Given the description of an element on the screen output the (x, y) to click on. 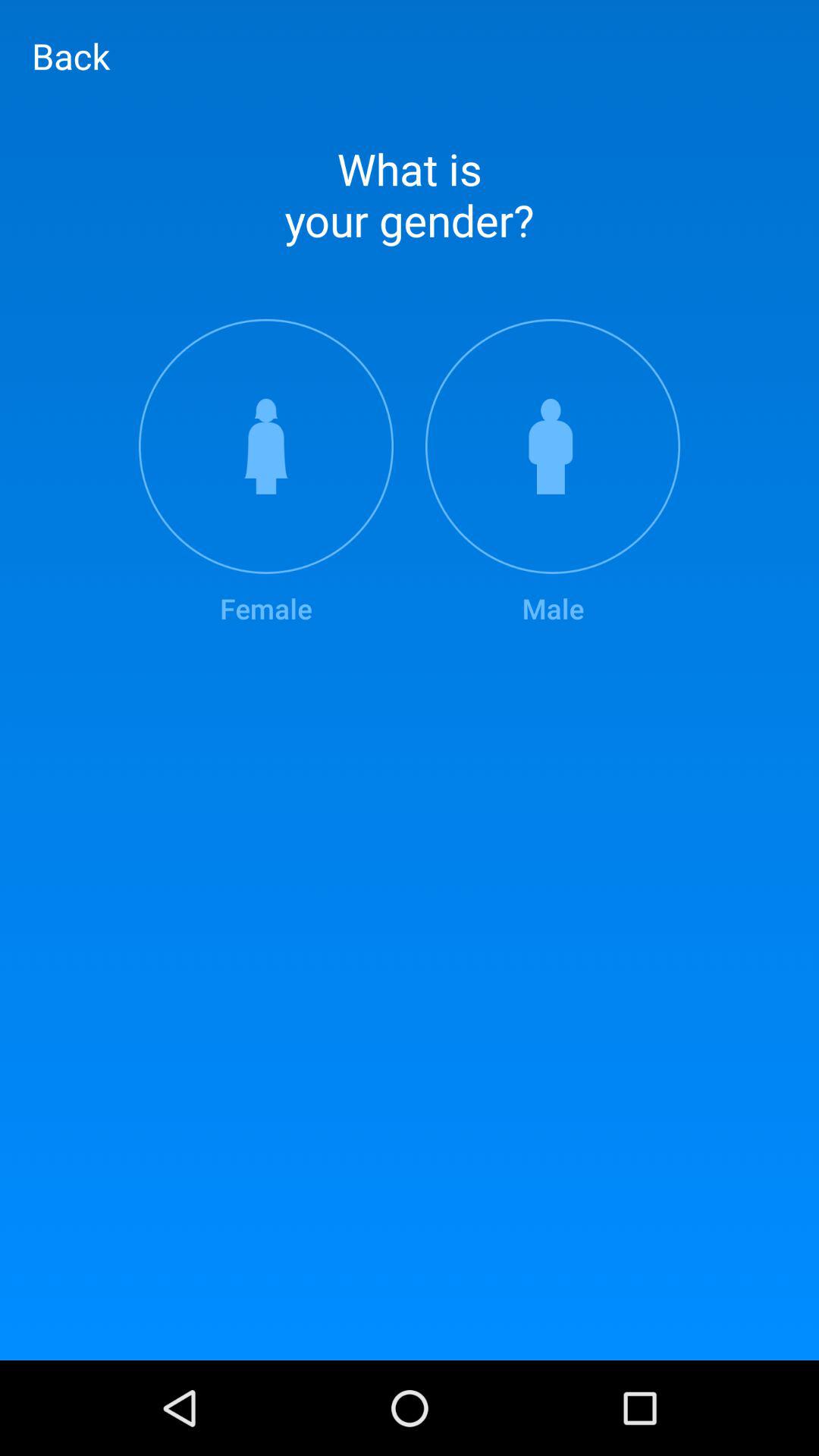
launch the icon next to the female item (552, 473)
